Given the description of an element on the screen output the (x, y) to click on. 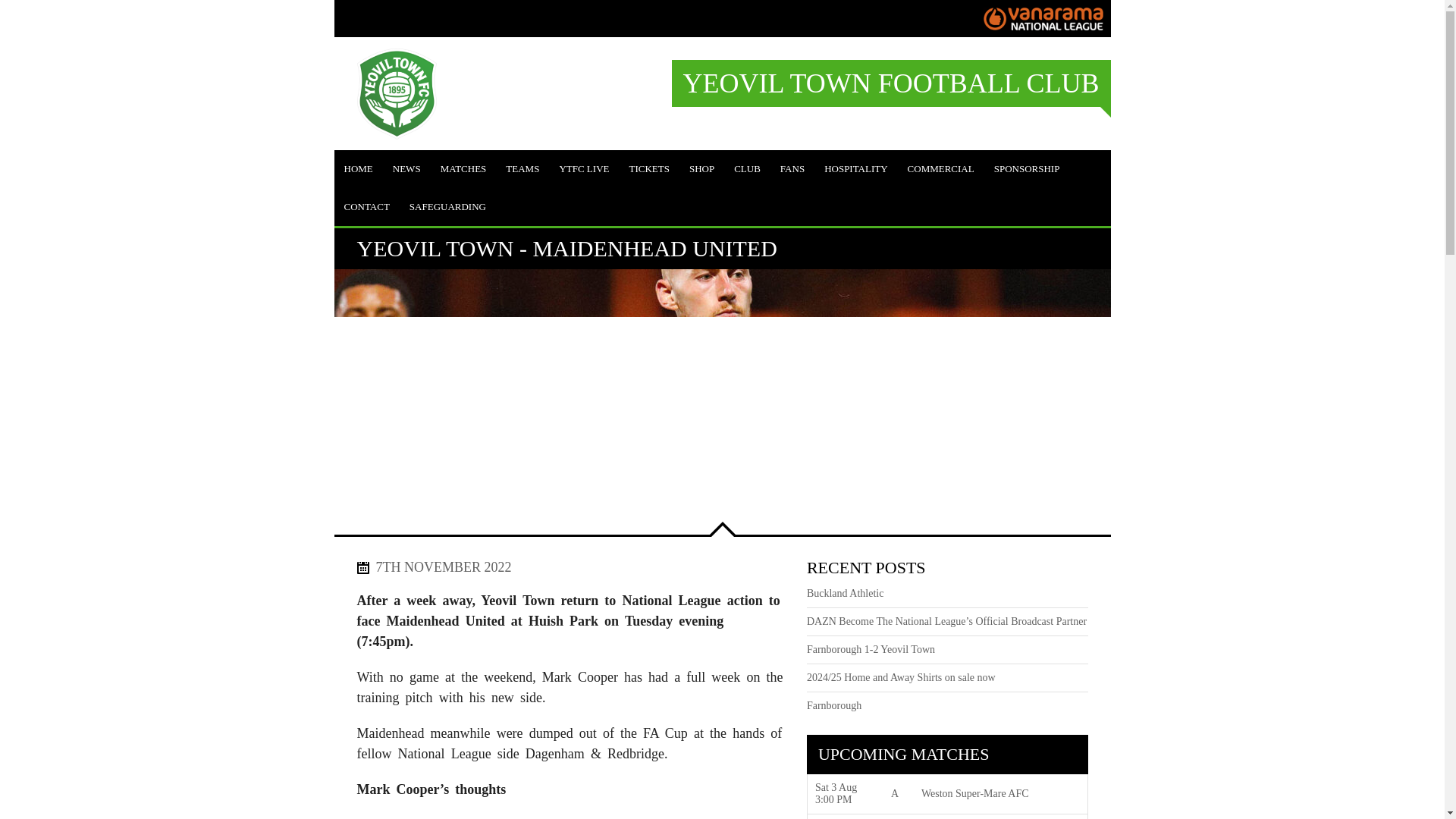
NEWS (406, 168)
TEAMS (522, 168)
YTFC LIVE (583, 168)
TICKETS (648, 168)
HOME (357, 168)
CLUB (746, 168)
HOSPITALITY (854, 168)
COMMERCIAL (941, 168)
FANS (791, 168)
MATCHES (463, 168)
SHOP (701, 168)
